Given the description of an element on the screen output the (x, y) to click on. 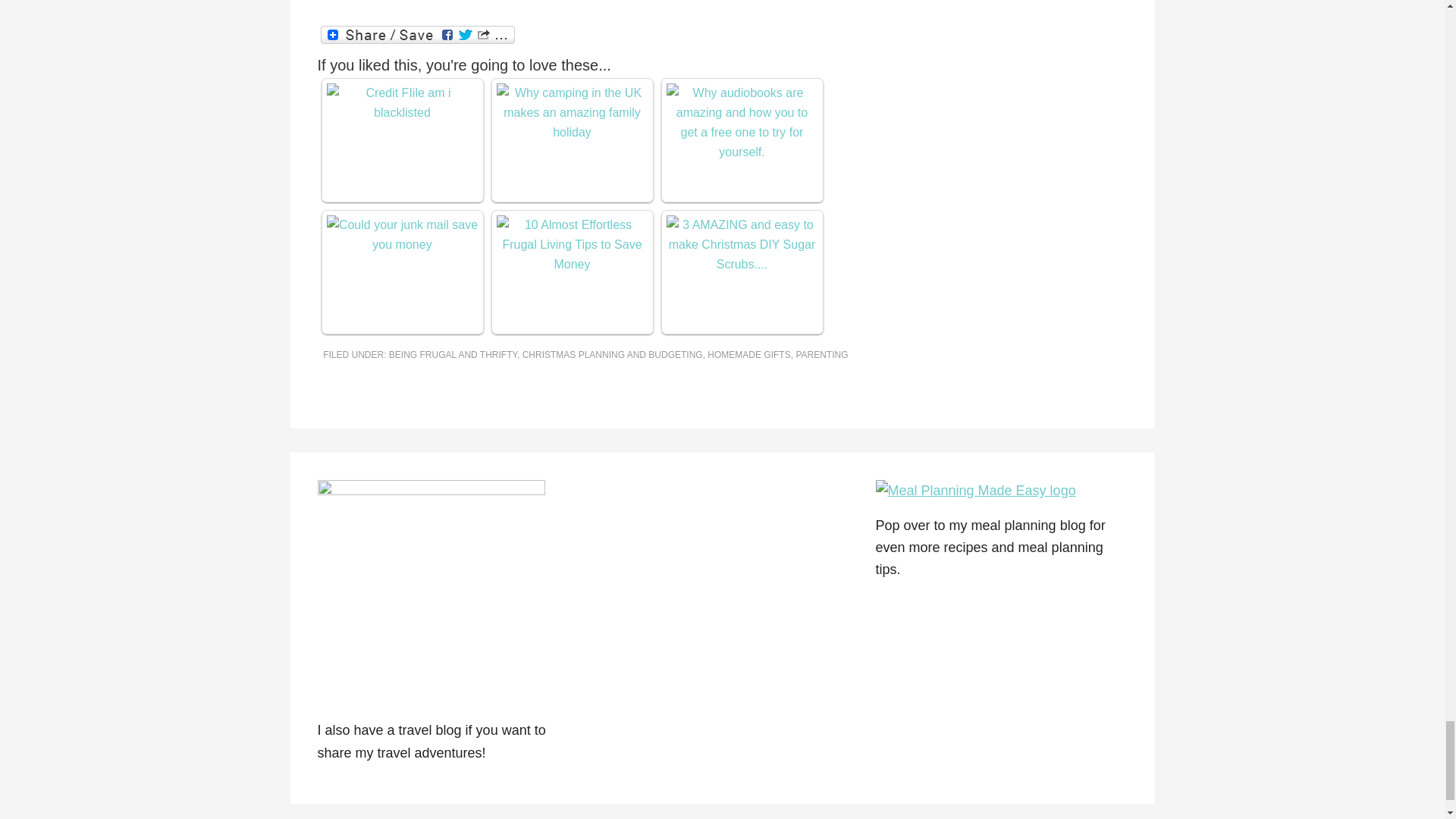
Why Audiobooks are amazing and how to get a free one! (740, 122)
Why camping in the UK makes an amazing family holiday.... (571, 112)
Could your junk mail save you money? (401, 234)
10 Almost Effortless Frugal Living Tips to Save Money.... (571, 244)
